Given the description of an element on the screen output the (x, y) to click on. 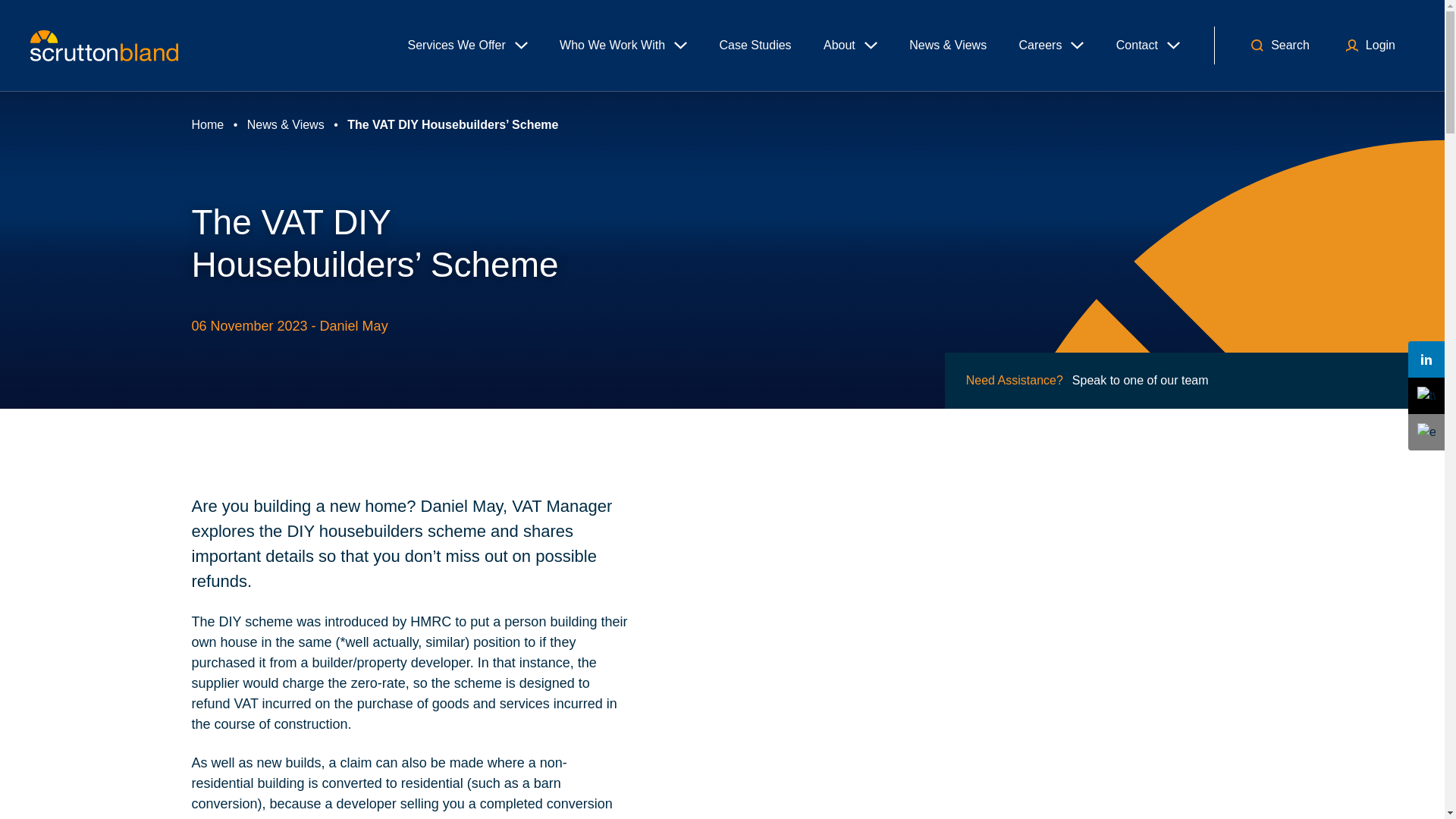
Services We Offer (467, 45)
Careers (1051, 45)
Case Studies (755, 45)
Who We Work With (623, 45)
About (850, 45)
